Given the description of an element on the screen output the (x, y) to click on. 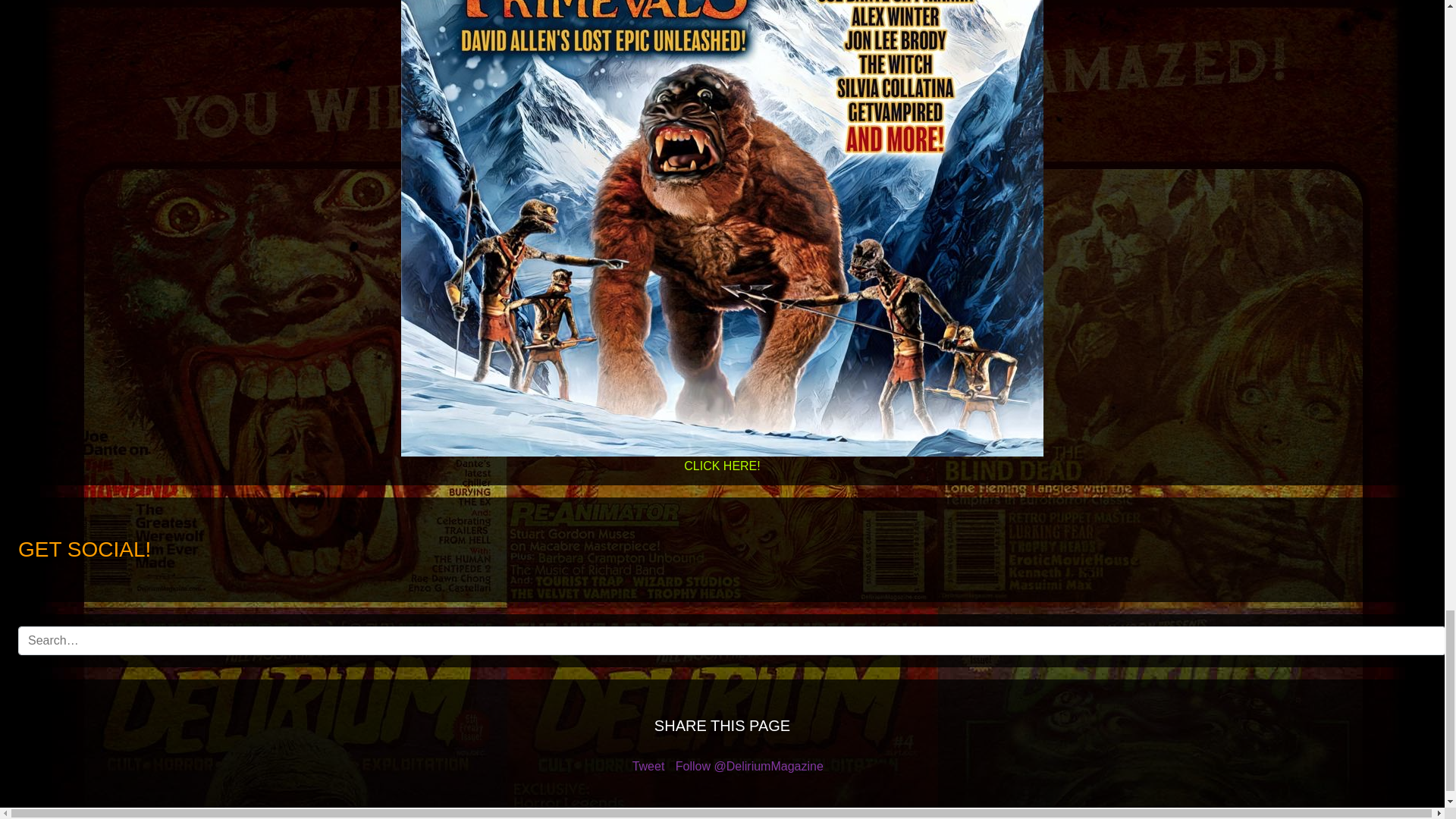
Tweet (648, 766)
Get the Latest Issue! (722, 458)
CLICK HERE! (722, 458)
